Given the description of an element on the screen output the (x, y) to click on. 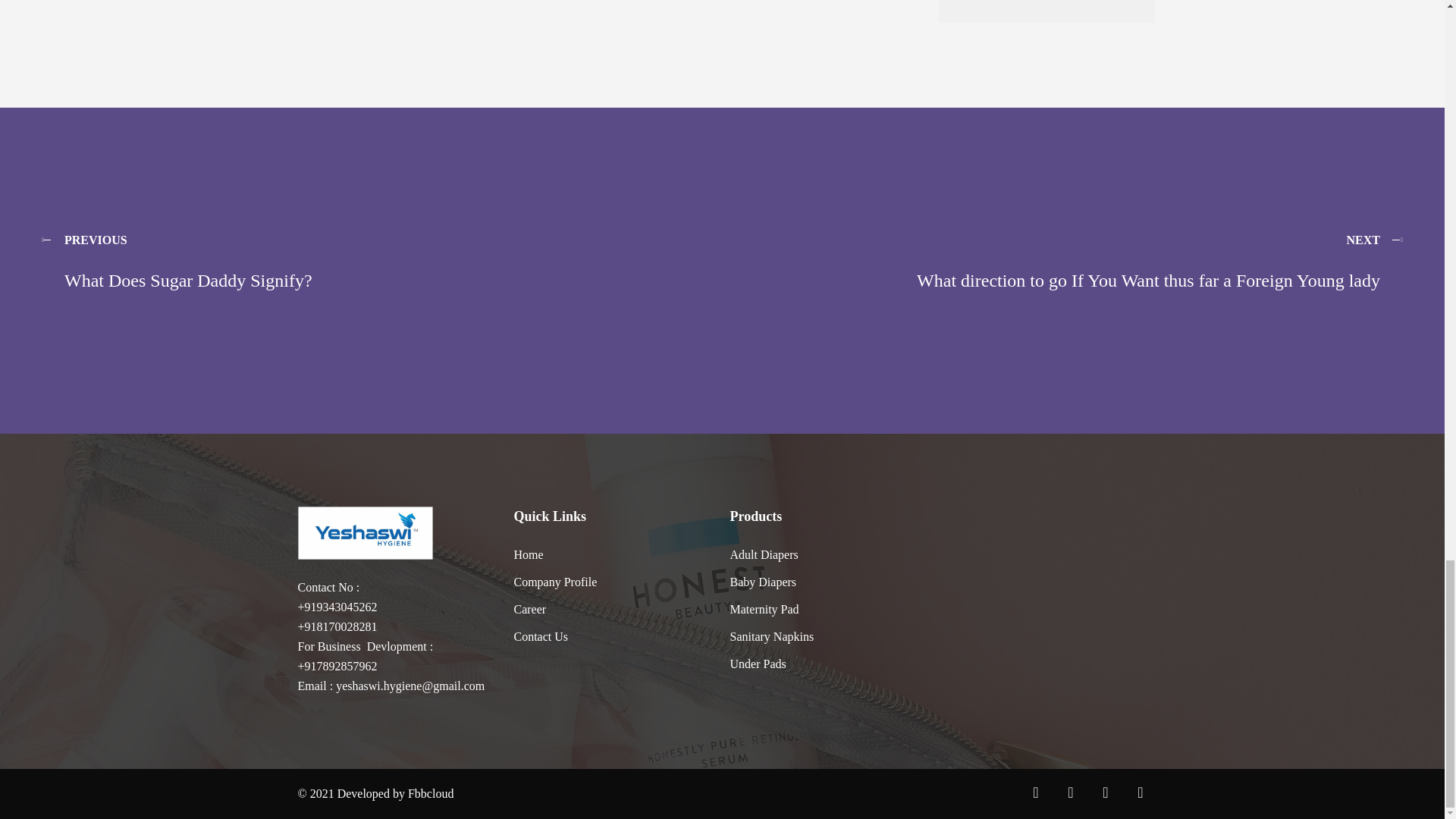
Jalahalli Village, Jalahalli, Bengaluru, Karnataka 560013 (1046, 588)
